Given the description of an element on the screen output the (x, y) to click on. 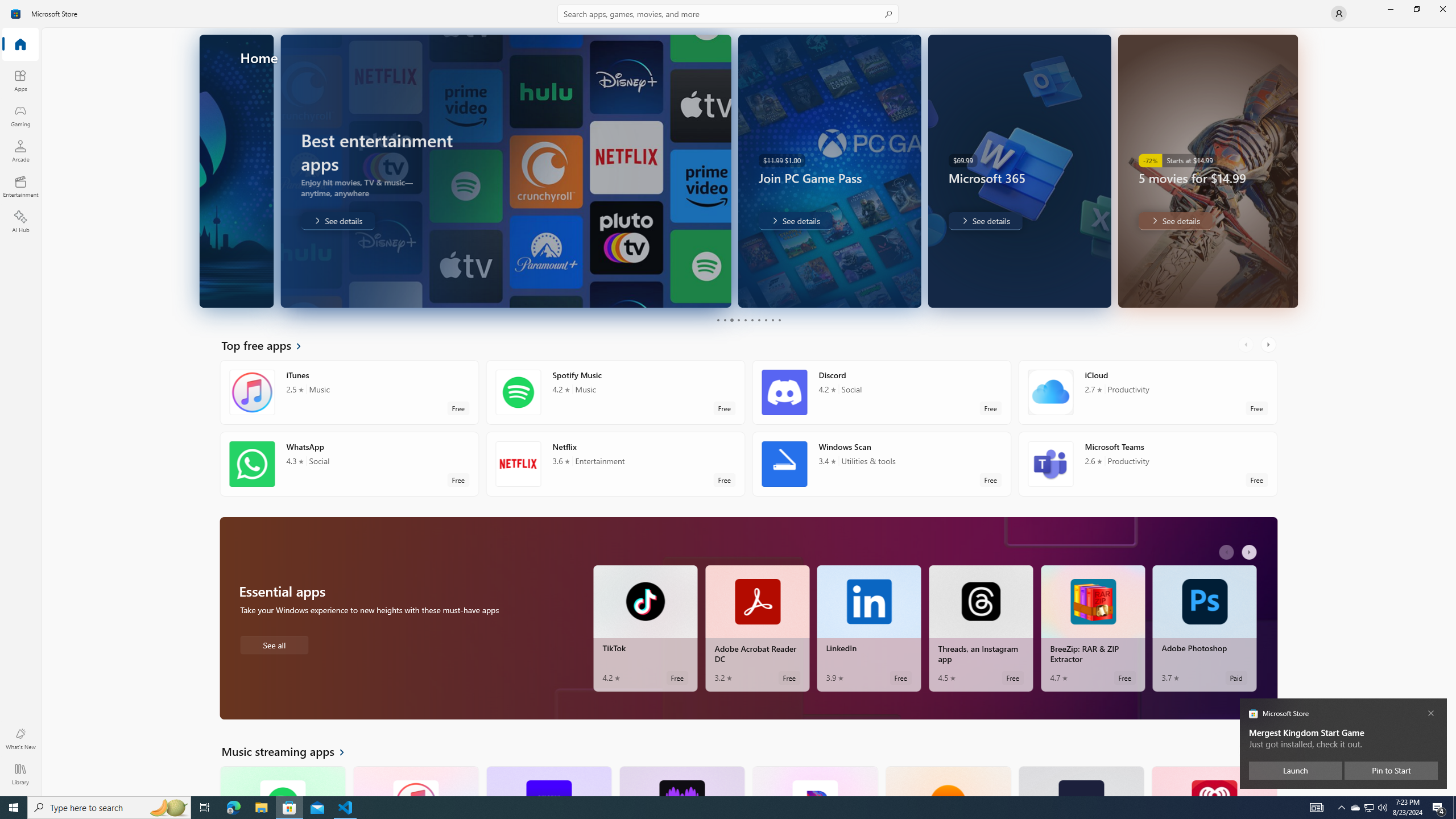
Page 1 (717, 319)
Pandora. Average rating of 4.5 out of five stars. Free   (814, 780)
Discord. Average rating of 4.2 out of five stars. Free   (881, 392)
Page 10 (779, 319)
Search (727, 13)
Pager (748, 319)
Gaming (20, 115)
Arcade (20, 150)
AI Hub (20, 221)
Page 5 (744, 319)
Close Microsoft Store (1442, 9)
